Given the description of an element on the screen output the (x, y) to click on. 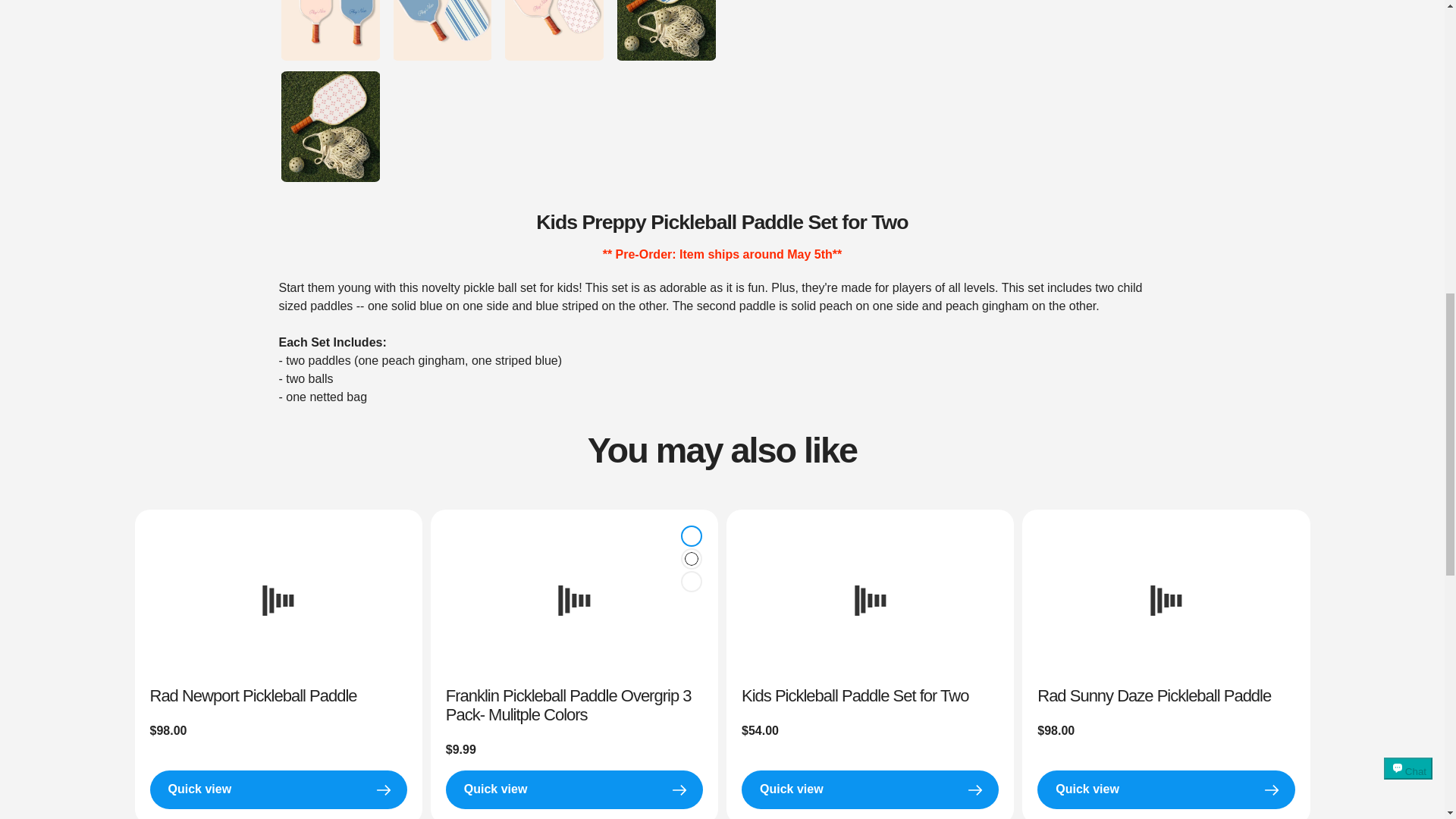
White (691, 558)
Black (691, 581)
Optic Yellow (691, 535)
